Given the description of an element on the screen output the (x, y) to click on. 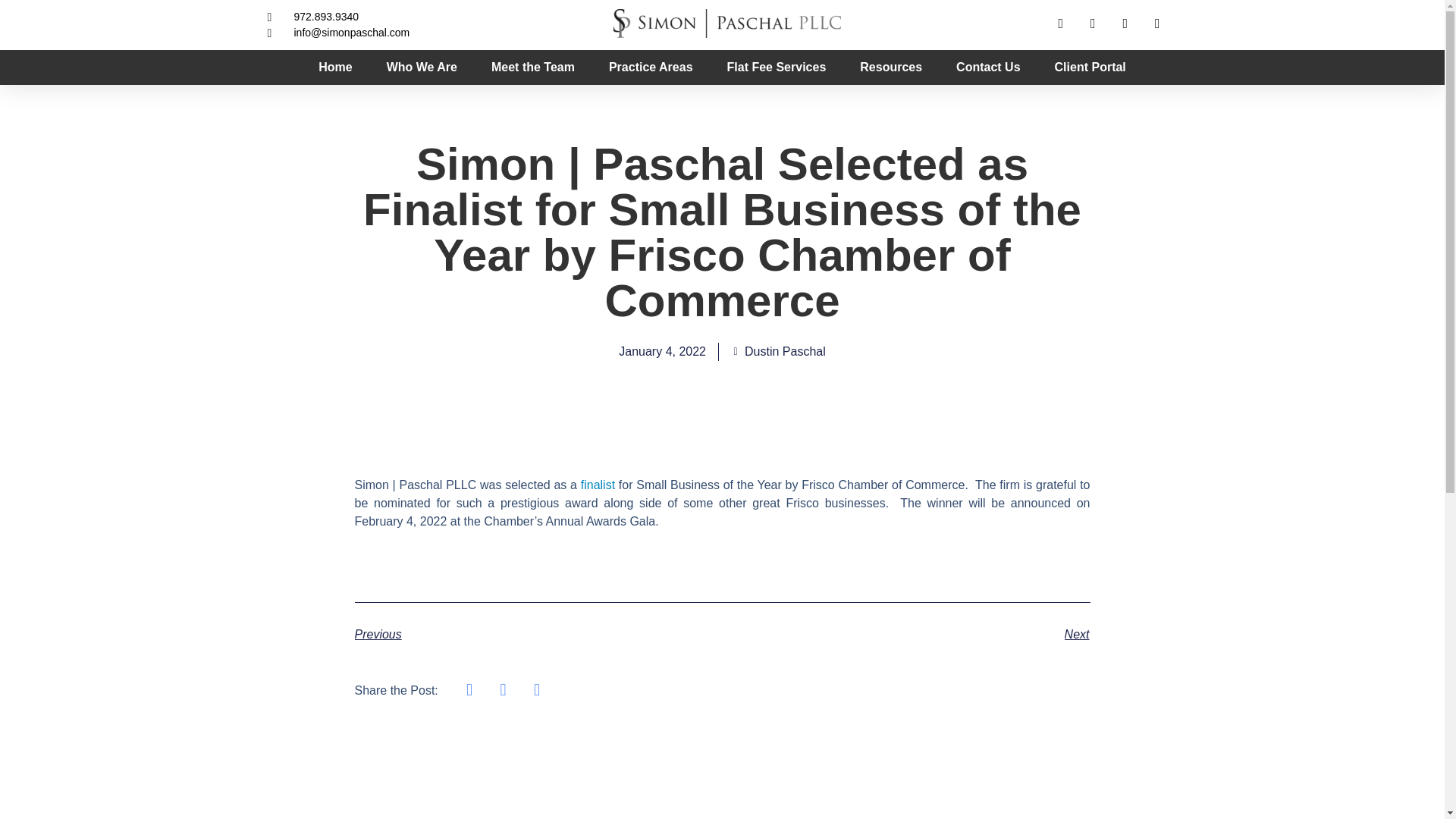
Who We Are (422, 67)
Home (335, 67)
Client Portal (1089, 67)
Flat Fee Services (776, 67)
Resources (890, 67)
Contact Us (988, 67)
Meet the Team (533, 67)
Practice Areas (650, 67)
